Given the description of an element on the screen output the (x, y) to click on. 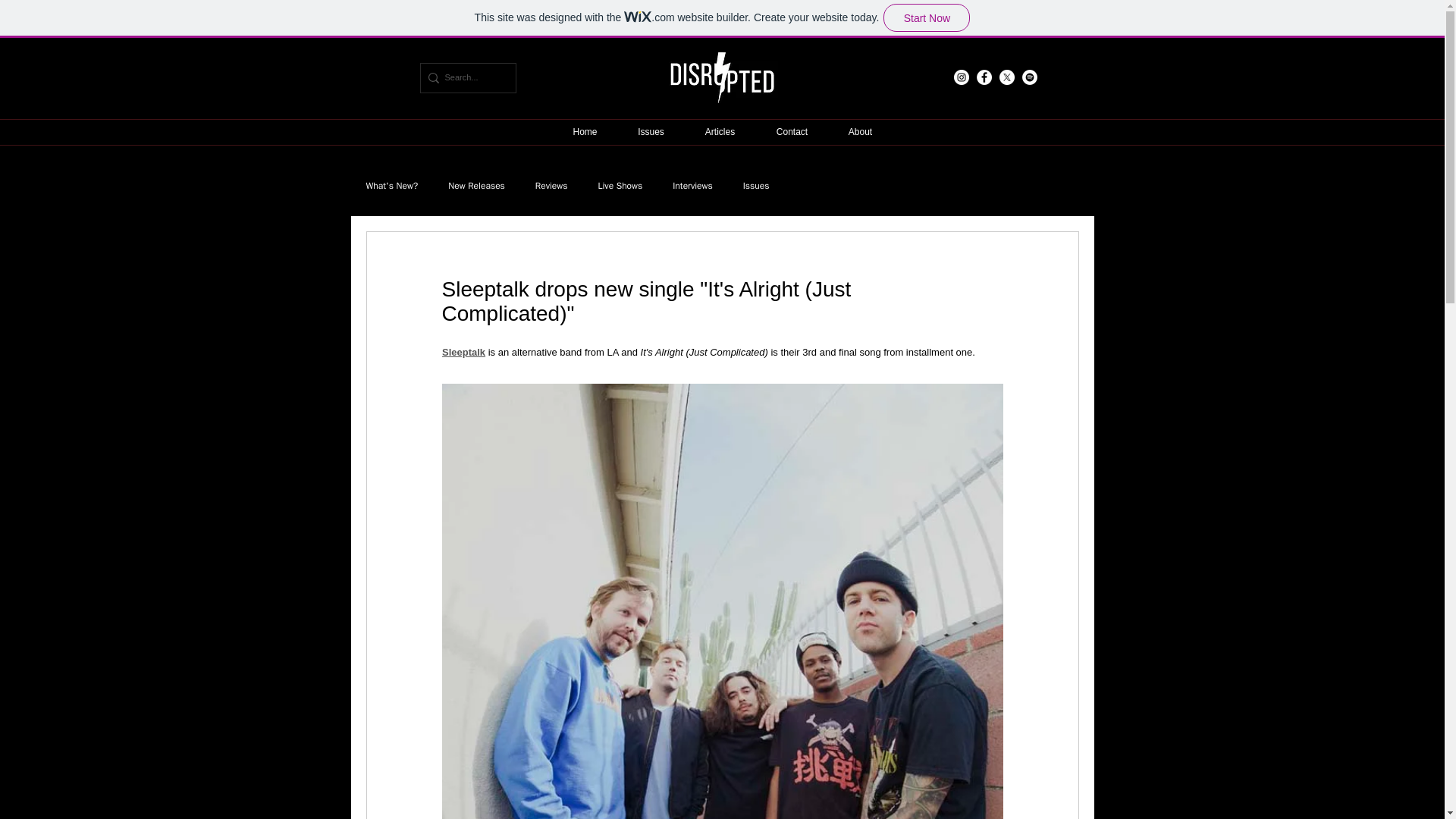
New Releases (476, 185)
Articles (719, 132)
Sleeptalk (462, 351)
Issues (650, 132)
About (859, 132)
Issues (756, 185)
Reviews (551, 185)
Home (584, 132)
Interviews (691, 185)
What's New? (391, 185)
